Given the description of an element on the screen output the (x, y) to click on. 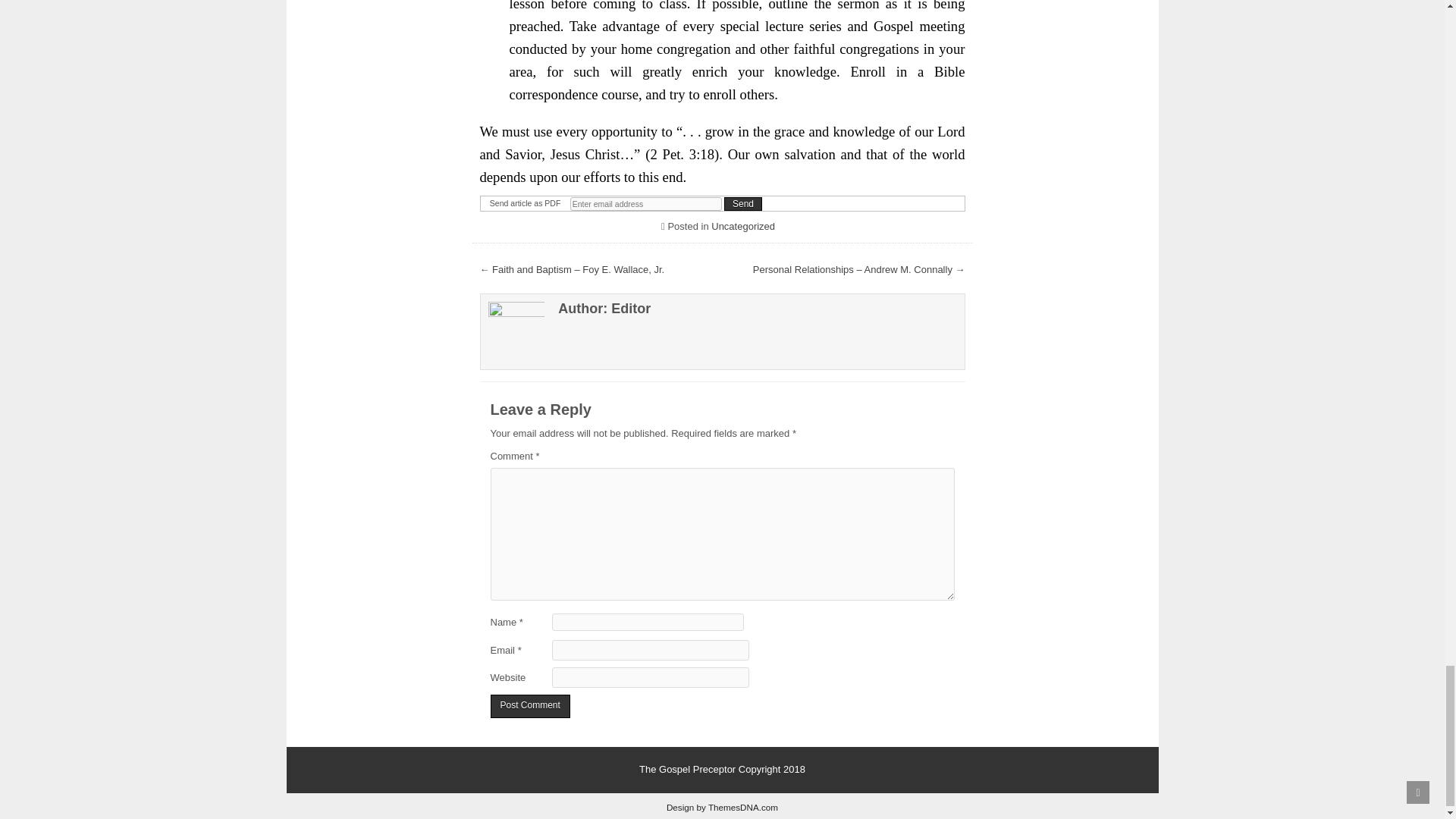
Post Comment (529, 706)
Send (742, 203)
Post Comment (529, 706)
Send (742, 203)
Uncategorized (742, 225)
